Given the description of an element on the screen output the (x, y) to click on. 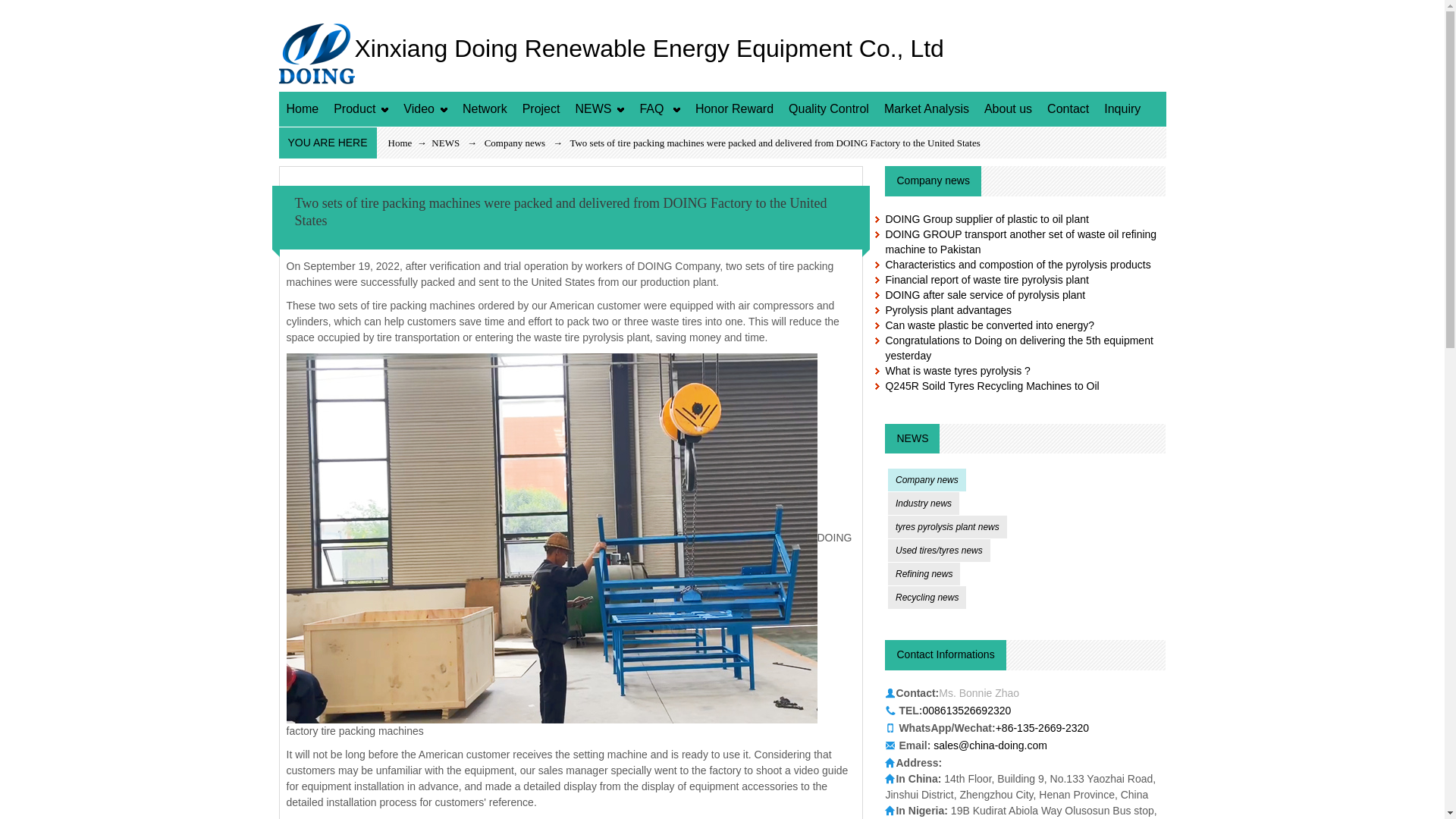
Xinxiang Doing Renewable Energy Equipment Co., Ltd (611, 52)
Honor Reward (733, 108)
NEWS (599, 108)
Video (425, 108)
Product (361, 108)
Quality Control (828, 108)
Network (484, 108)
Company news (515, 142)
Market Analysis (926, 108)
FAQ (659, 108)
